Given the description of an element on the screen output the (x, y) to click on. 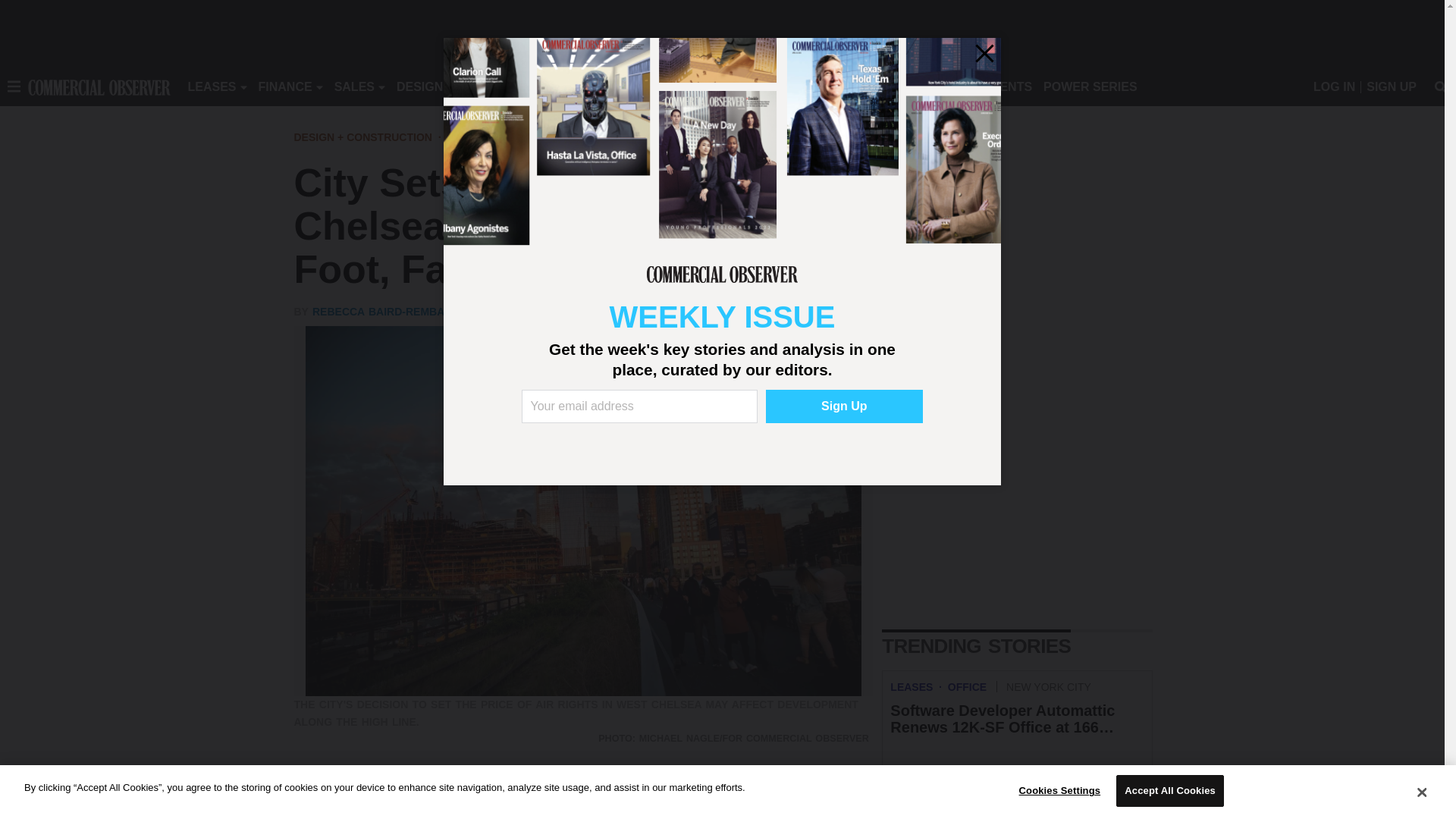
LEASES (211, 86)
Commercial Observer Home (98, 86)
Posts by Rebecca Baird-Remba (378, 311)
TECHNOLOGY (619, 86)
SALES (354, 86)
MORE (691, 86)
Send email (398, 789)
Share on LinkedIn (368, 789)
FINANCE (286, 86)
Share on Facebook (307, 789)
Tweet (338, 789)
